Given the description of an element on the screen output the (x, y) to click on. 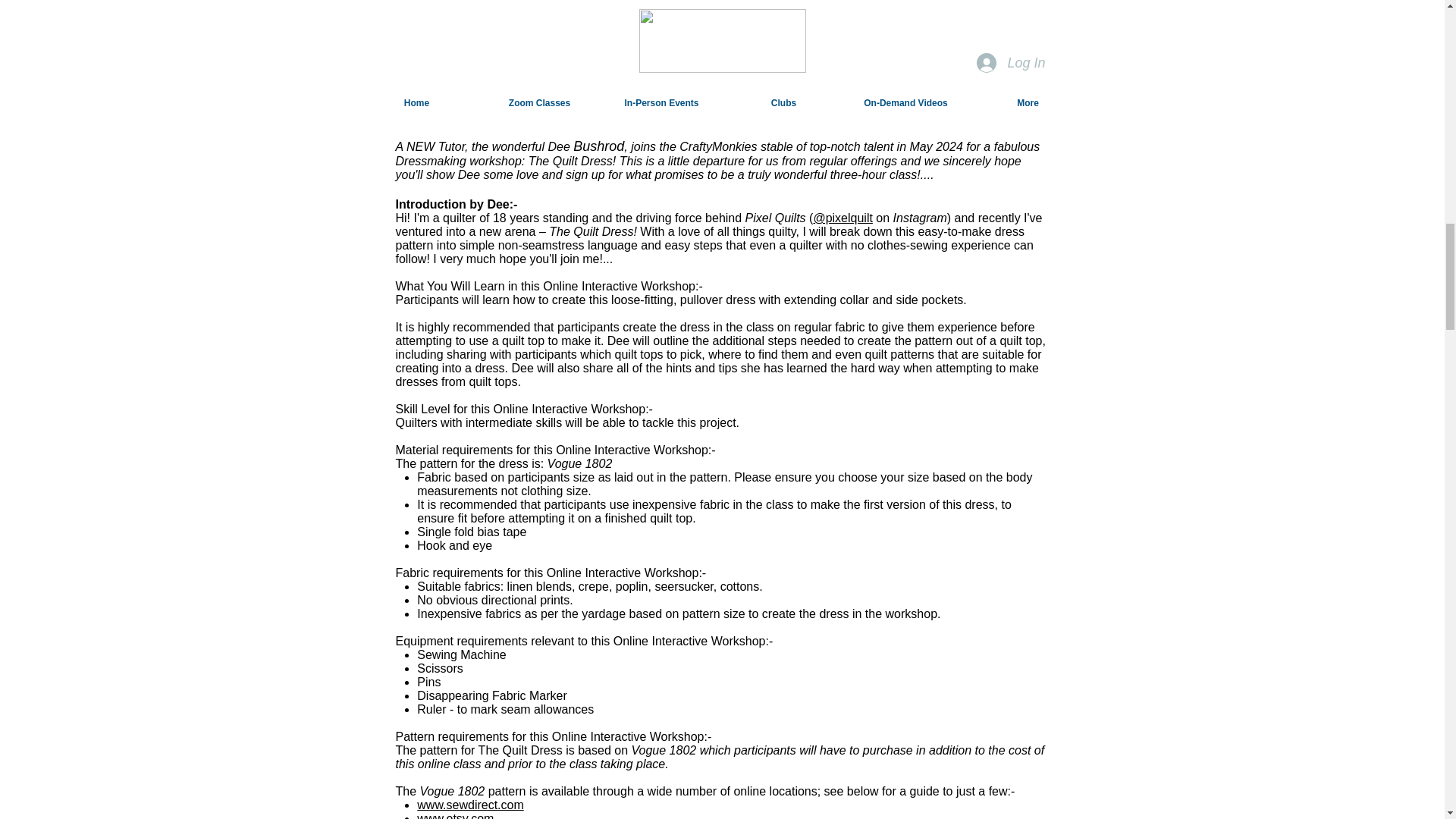
www.sewdirect.com (469, 804)
Dee Bushrod (719, 29)
www.etsy.com (454, 815)
